Given the description of an element on the screen output the (x, y) to click on. 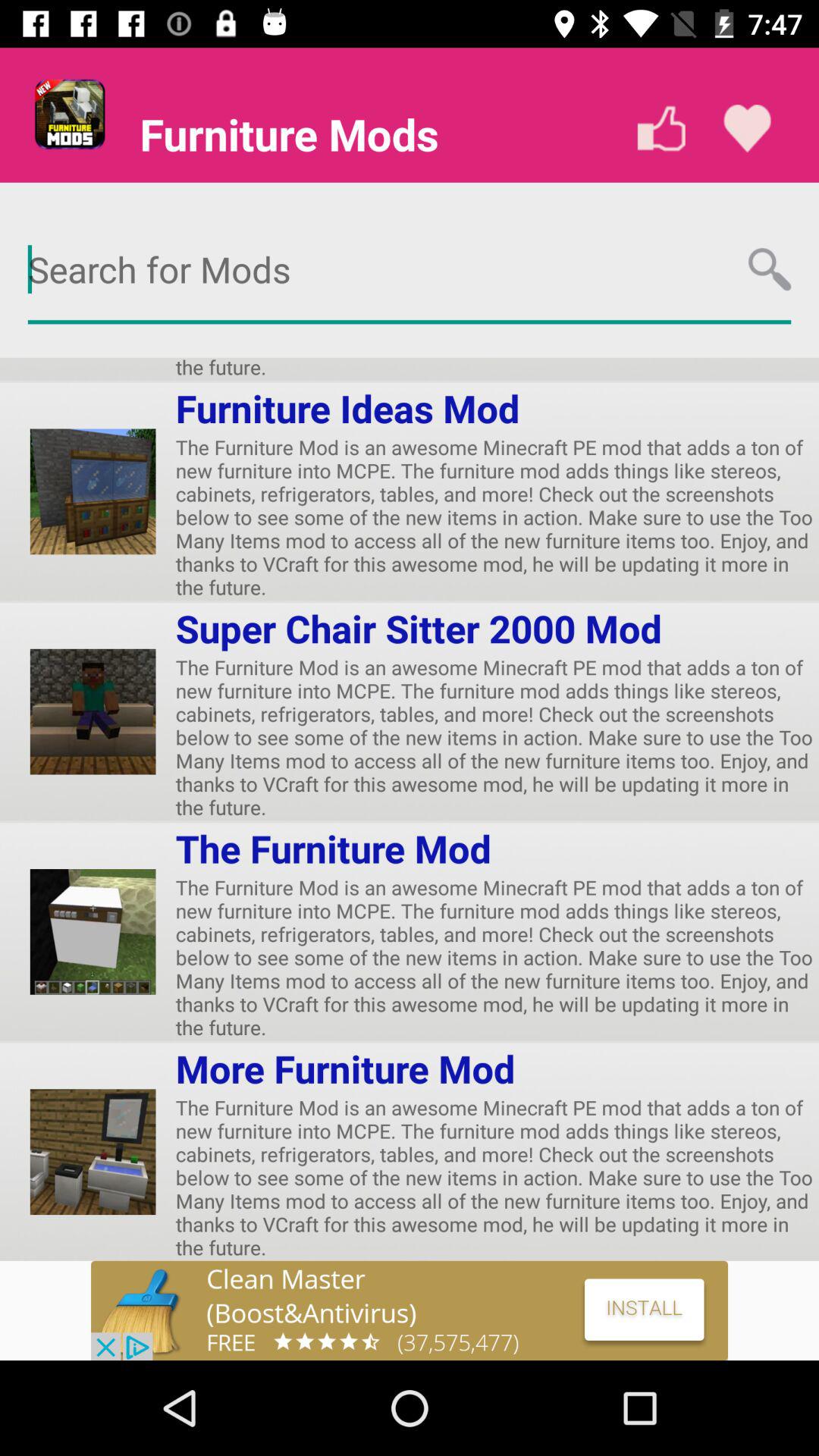
favorite list (747, 128)
